Given the description of an element on the screen output the (x, y) to click on. 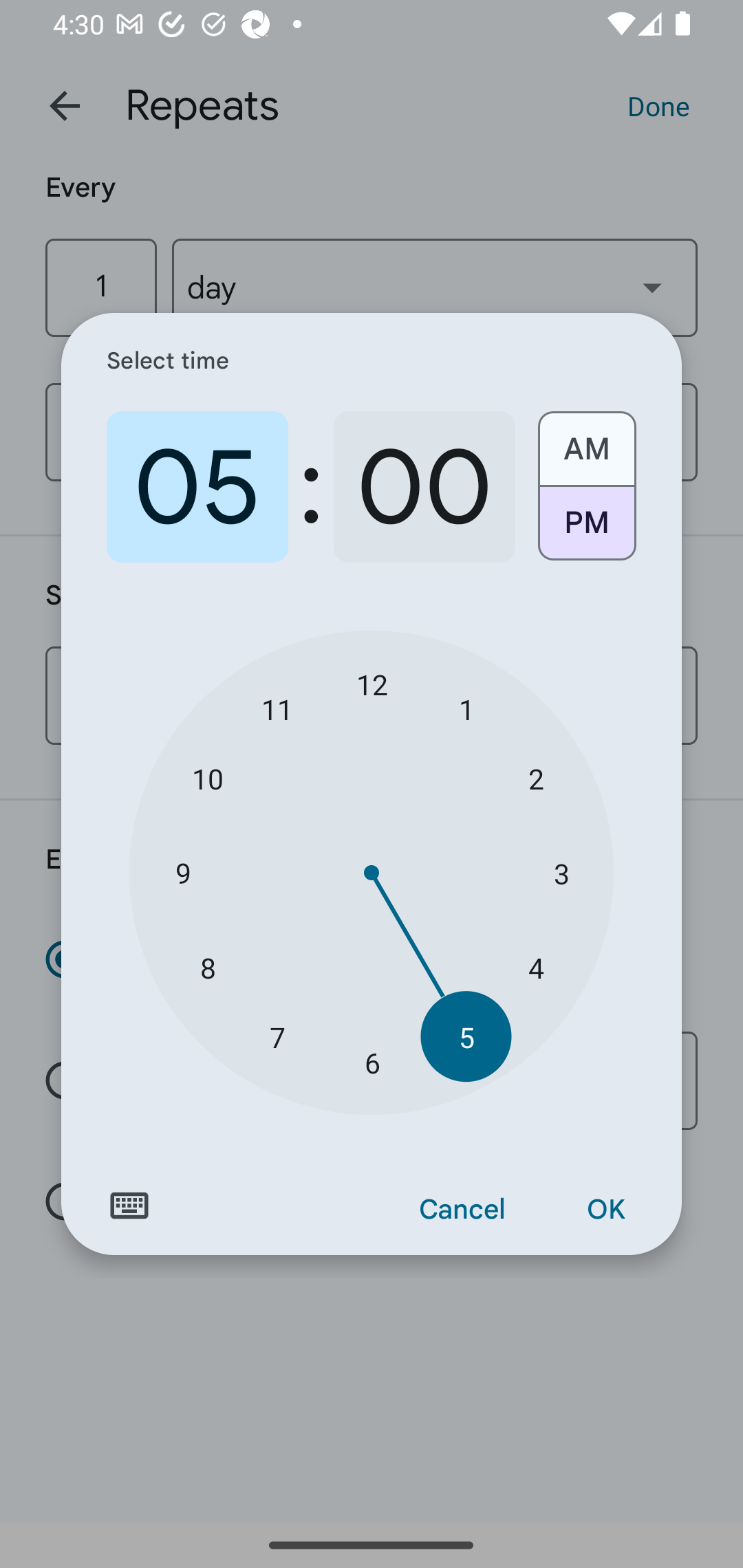
AM (586, 441)
05 5 o'clock (197, 486)
00 0 minutes (424, 486)
PM (586, 529)
12 12 o'clock (371, 683)
11 11 o'clock (276, 708)
1 1 o'clock (466, 708)
10 10 o'clock (207, 778)
2 2 o'clock (535, 778)
9 9 o'clock (182, 872)
3 3 o'clock (561, 872)
8 8 o'clock (207, 966)
4 4 o'clock (535, 966)
7 7 o'clock (276, 1035)
5 5 o'clock (466, 1035)
6 6 o'clock (371, 1062)
Switch to text input mode for the time input. (128, 1205)
Cancel (462, 1209)
OK (605, 1209)
